Given the description of an element on the screen output the (x, y) to click on. 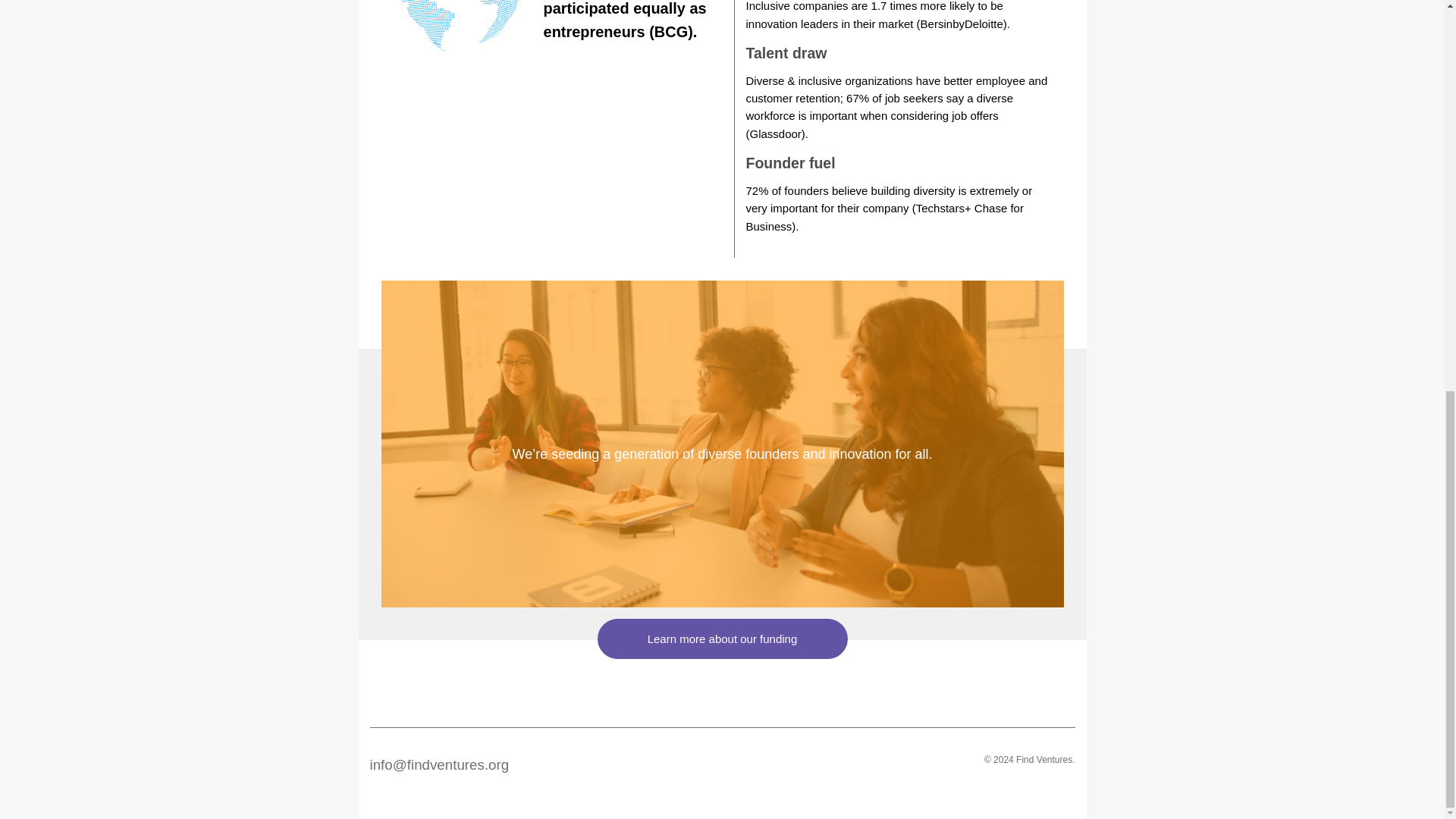
Learn more about our funding (722, 638)
